Given the description of an element on the screen output the (x, y) to click on. 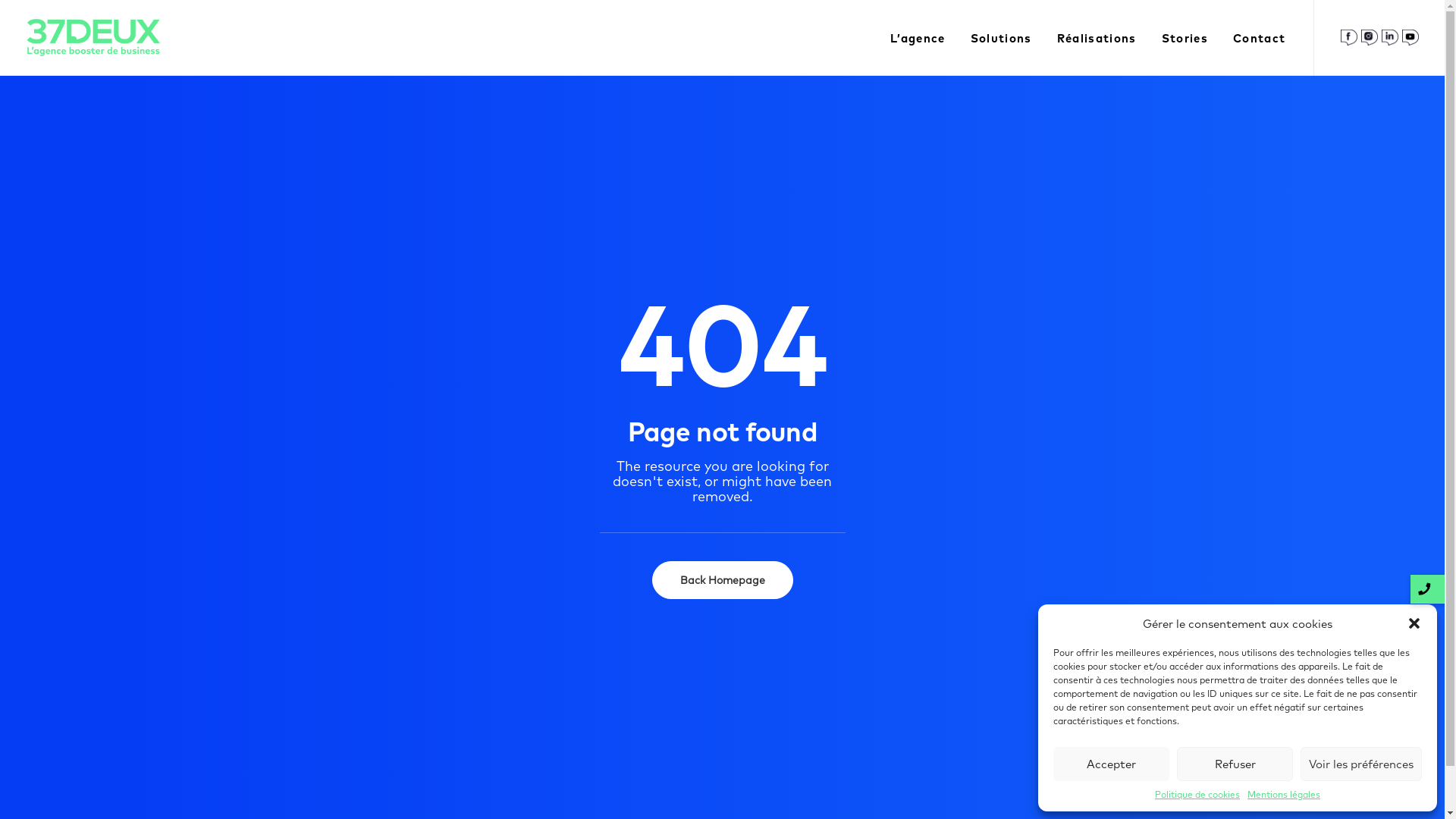
Back Homepage Element type: text (722, 580)
Politique de cookies Element type: text (1196, 794)
Youtube 37DEUX Element type: hover (1409, 37)
Solutions Element type: text (1001, 37)
Instagram 37DEUX Element type: hover (1368, 37)
Stories Element type: text (1184, 37)
Contact Element type: text (1253, 37)
Accepter Element type: text (1111, 763)
Refuser Element type: text (1234, 763)
Facebook 37DEUX Element type: hover (1348, 37)
Linkedin 37DEUX Element type: hover (1389, 37)
